Given the description of an element on the screen output the (x, y) to click on. 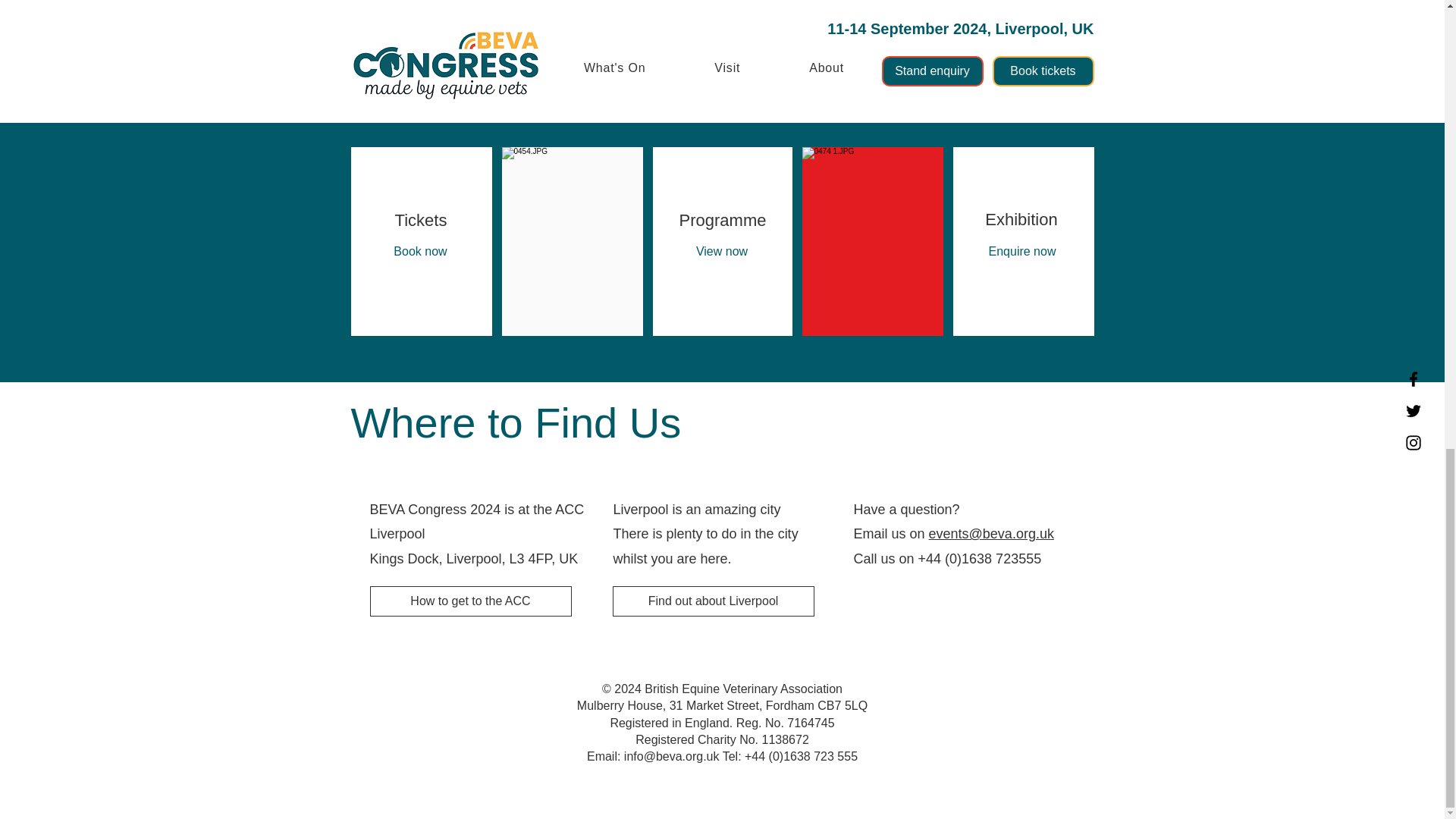
Enquire now (1021, 251)
How to get to the ACC (470, 601)
View now (721, 251)
Find out about Liverpool (712, 601)
Book now (419, 251)
